Given the description of an element on the screen output the (x, y) to click on. 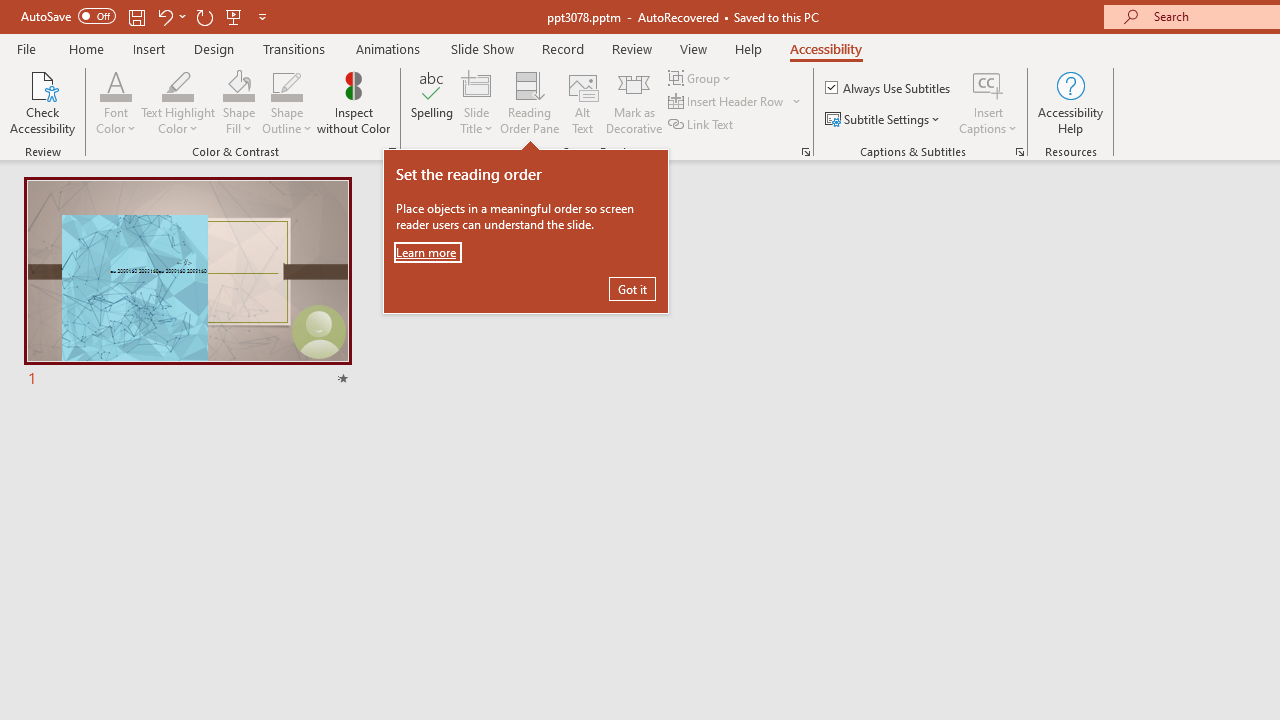
Check Accessibility (42, 102)
Always Use Subtitles (889, 87)
Insert Header Row (735, 101)
Shape Outline (286, 84)
Inspect without Color (353, 102)
